Given the description of an element on the screen output the (x, y) to click on. 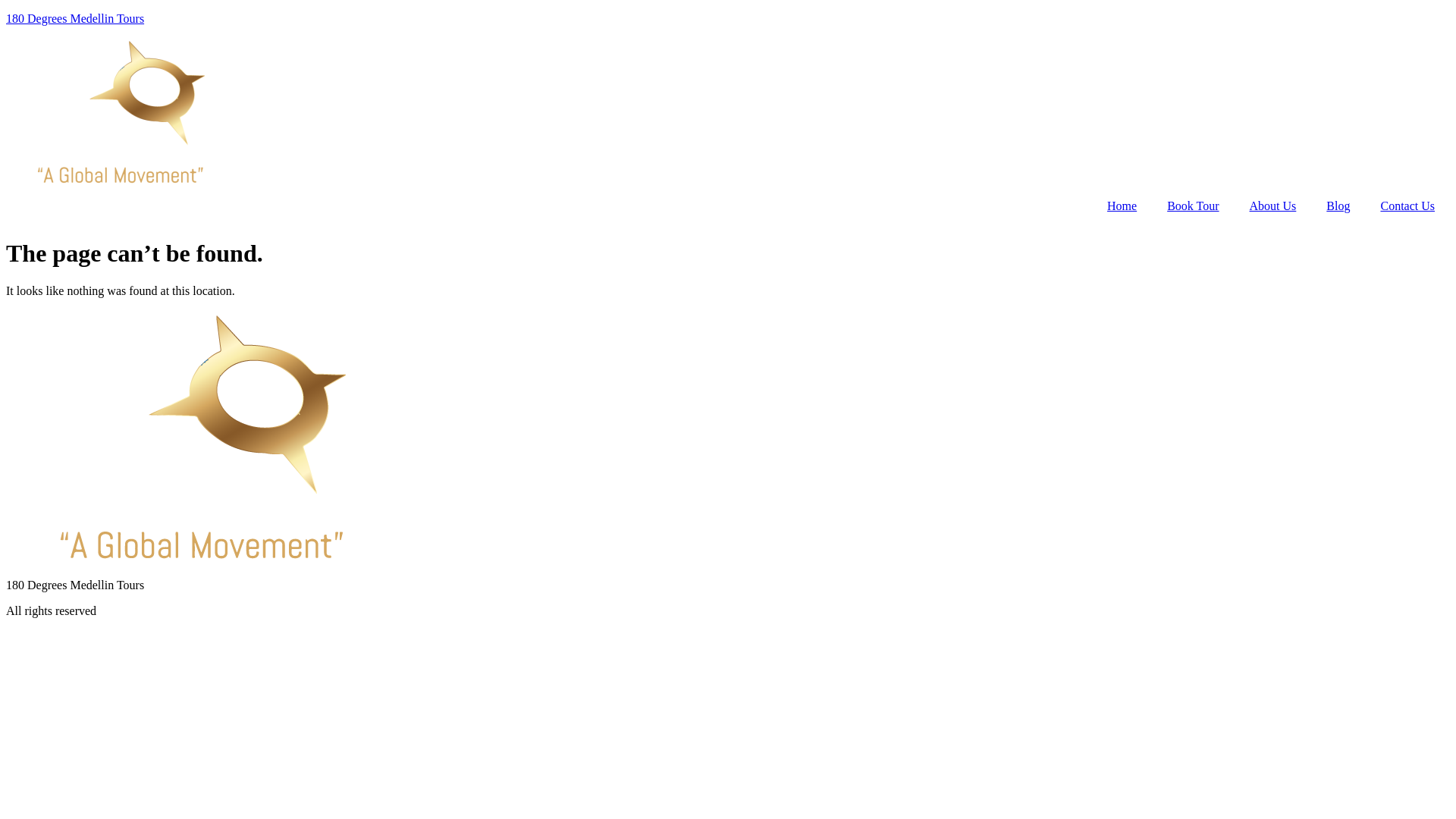
180 Degrees Medellin Tours Element type: text (75, 18)
Home Element type: text (1121, 205)
Book Tour Element type: text (1192, 205)
About Us Element type: text (1272, 205)
Contact Us Element type: text (1407, 205)
Blog Element type: text (1338, 205)
